Given the description of an element on the screen output the (x, y) to click on. 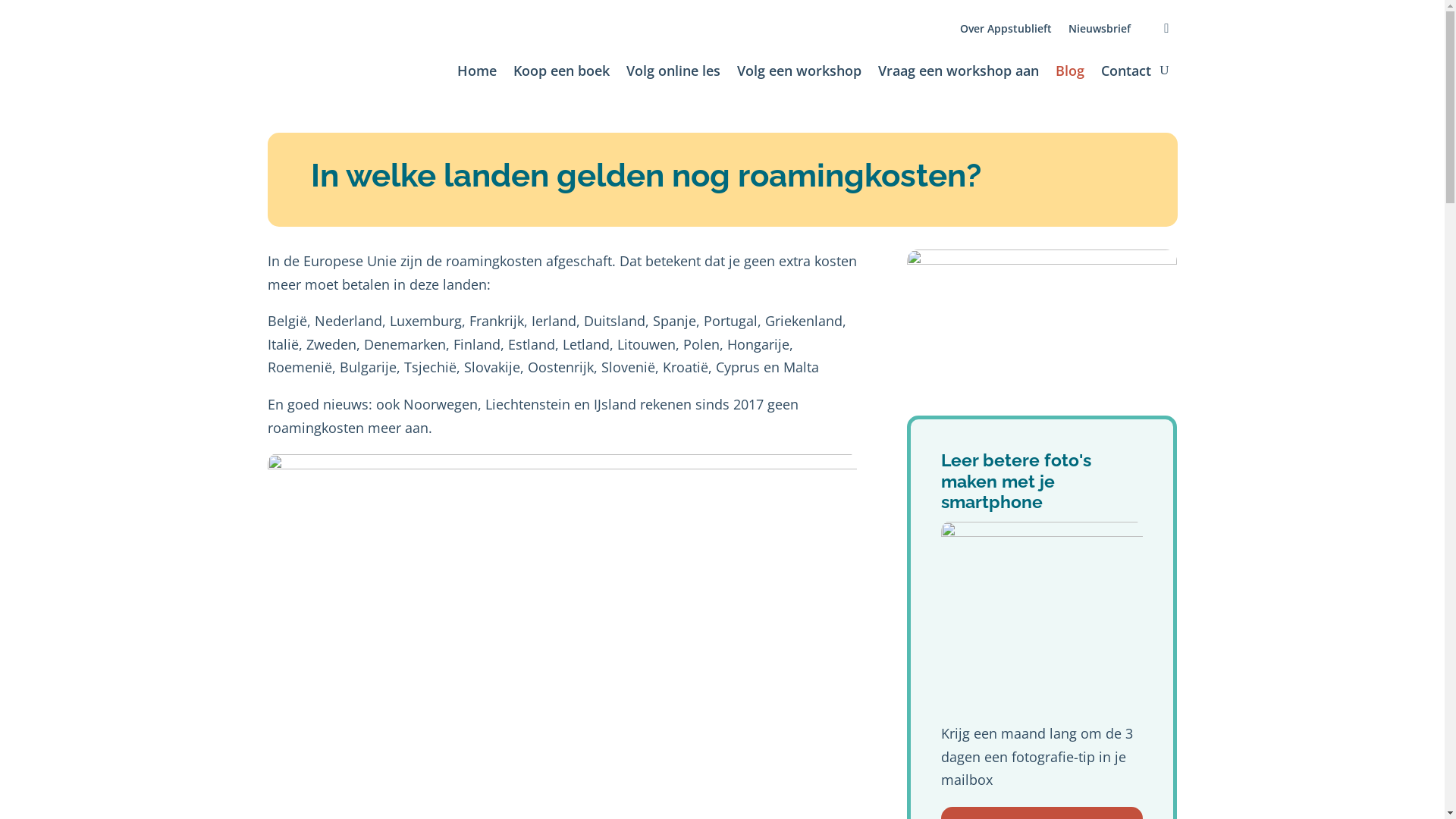
wifi Element type: hover (1041, 319)
Nieuwsbrief Element type: text (1099, 31)
Blog Element type: text (1069, 73)
Volg een workshop Element type: text (799, 73)
Contact Element type: text (1126, 73)
Koop een boek Element type: text (561, 73)
Home Element type: text (476, 73)
Over Appstublieft Element type: text (1005, 31)
Vraag een workshop aan Element type: text (958, 73)
Volg online les Element type: text (673, 73)
